Given the description of an element on the screen output the (x, y) to click on. 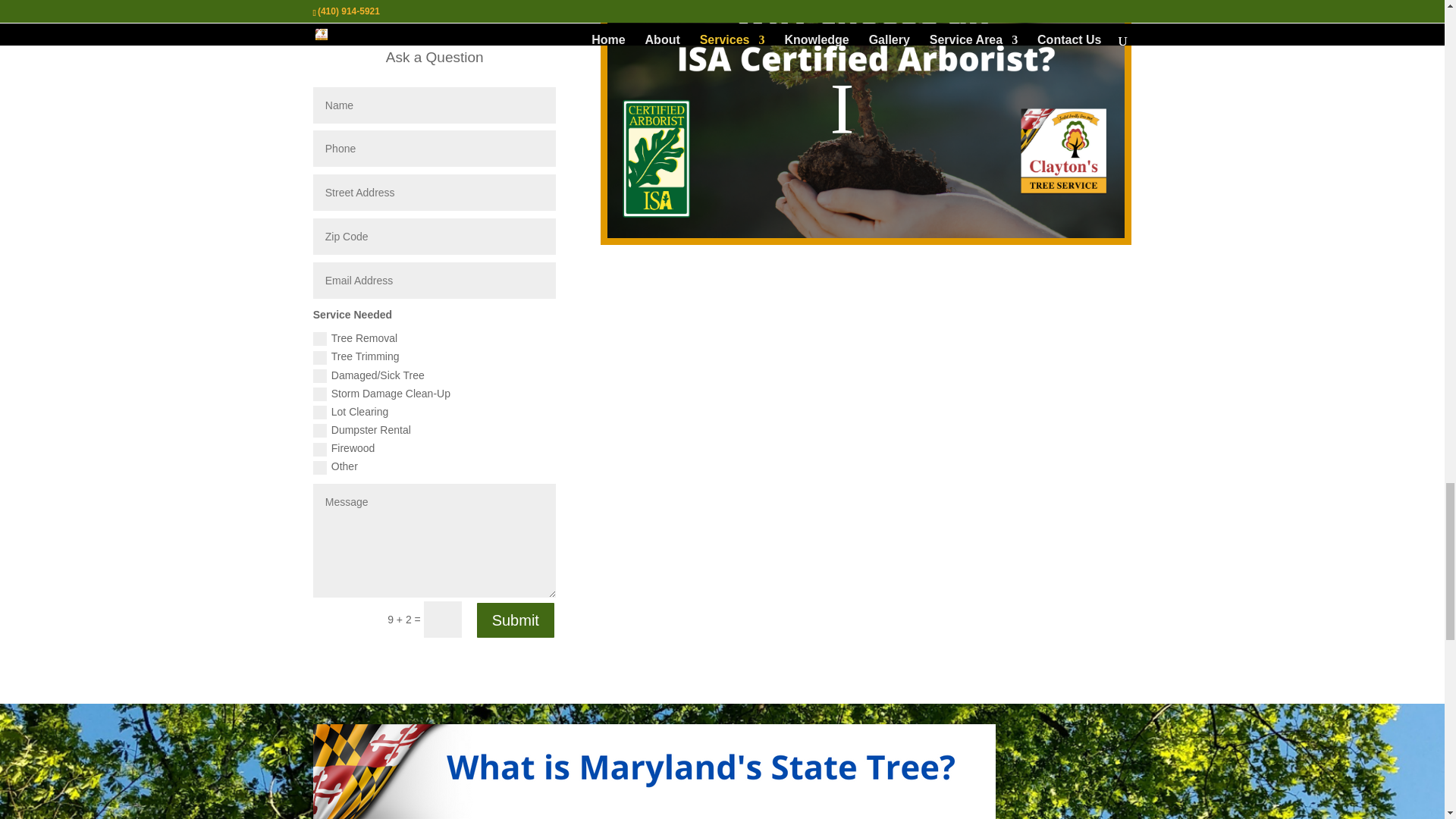
Minimum length: 3 characters. Maximum length: 28 characters. (434, 104)
Minimum length: 7 characters. Maximum length: 47 characters. (434, 192)
Minimum length: 5 characters. Maximum length: 10 characters. (434, 236)
